Given the description of an element on the screen output the (x, y) to click on. 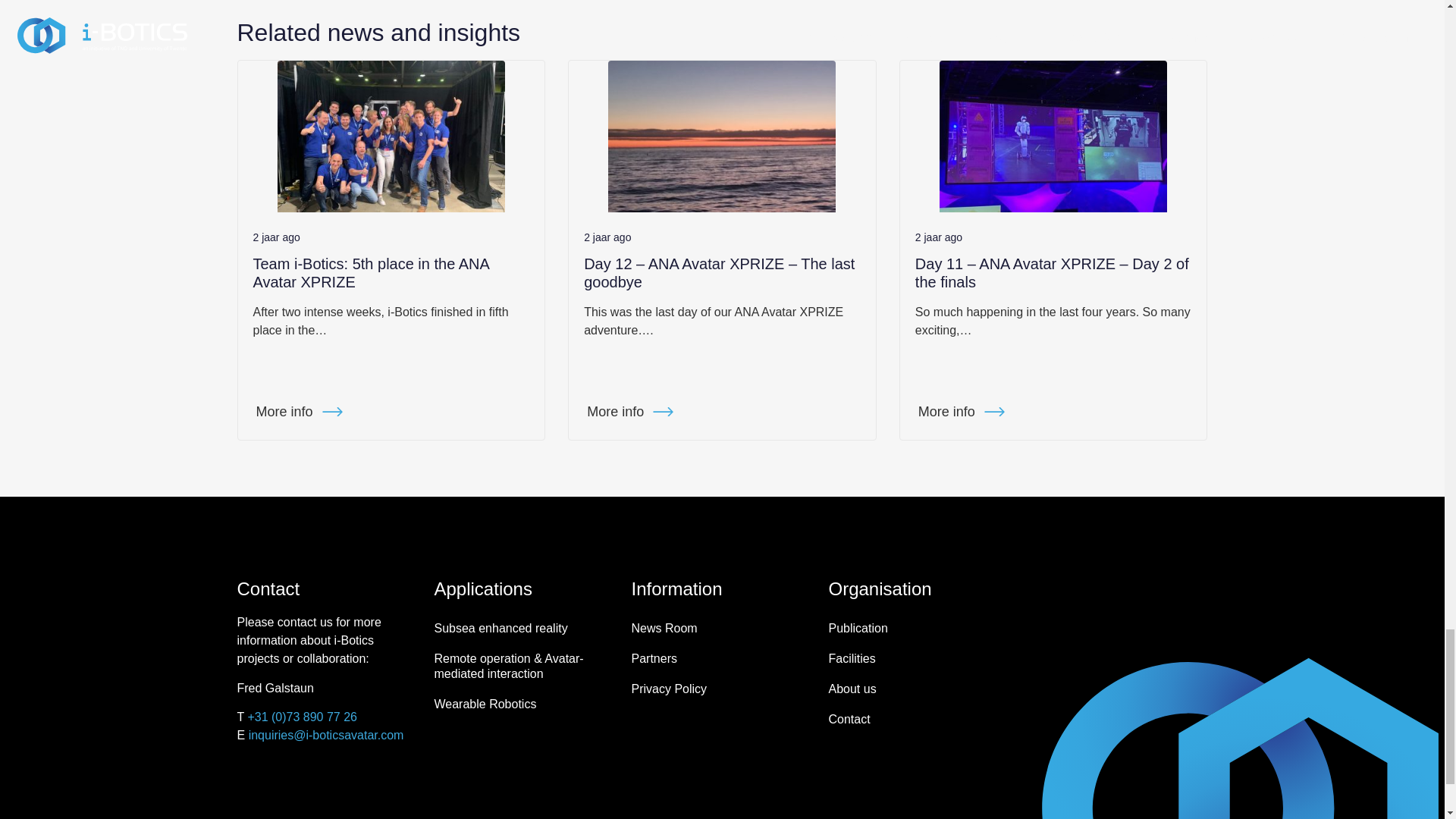
IMG-20221105-WA0005 (1053, 136)
